Given the description of an element on the screen output the (x, y) to click on. 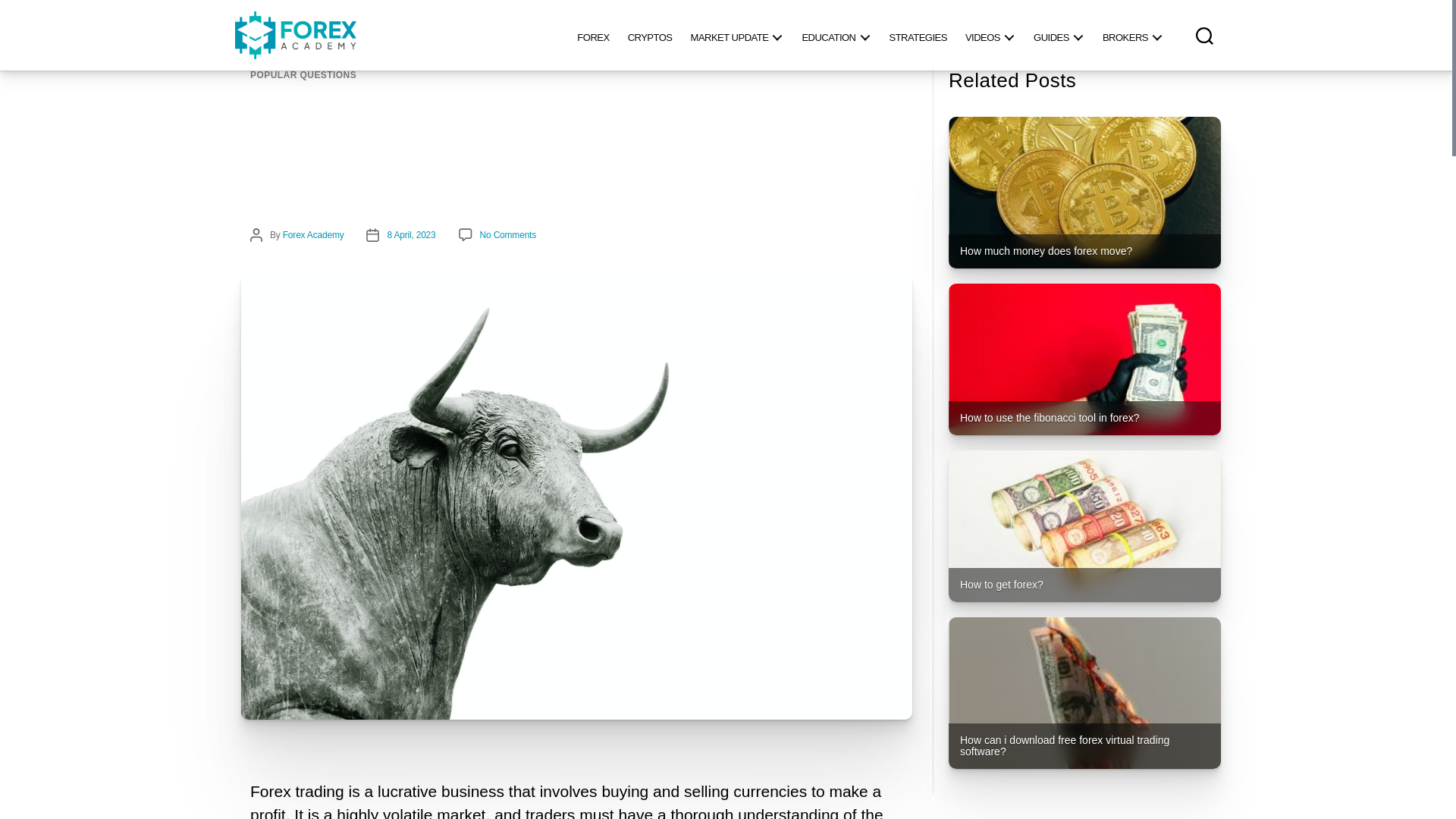
VIDEOS (990, 35)
How much money does forex move? (1085, 192)
How to use the fibonacci tool in forex? (1085, 358)
How can i download free forex virtual trading software? (1085, 693)
EDUCATION (835, 35)
CRYPTOS (649, 35)
GUIDES (1059, 35)
BROKERS (1132, 35)
How to get forex? (1085, 525)
MARKET UPDATE (737, 35)
STRATEGIES (917, 35)
